Given the description of an element on the screen output the (x, y) to click on. 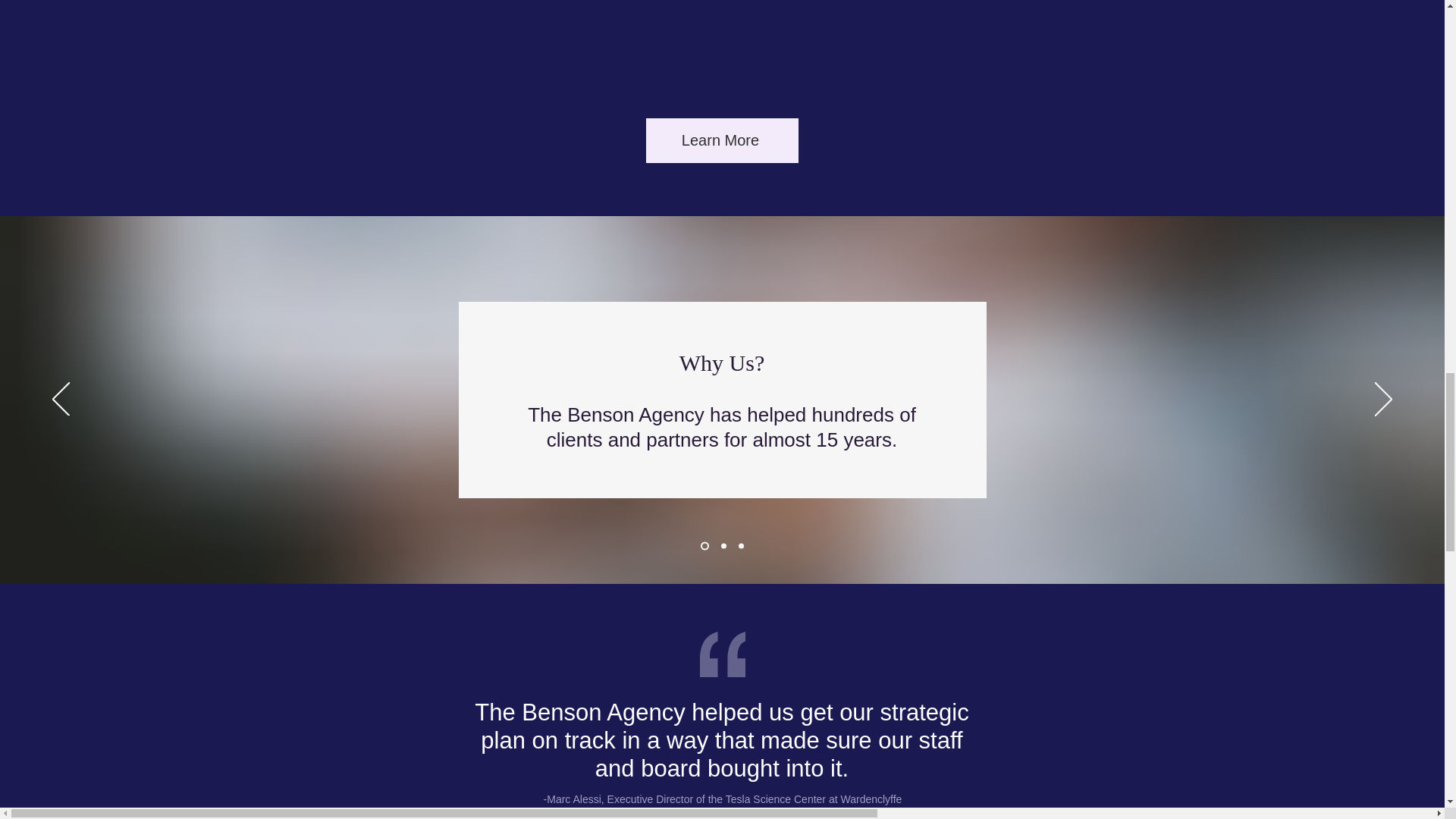
Learn More (721, 139)
